Given the description of an element on the screen output the (x, y) to click on. 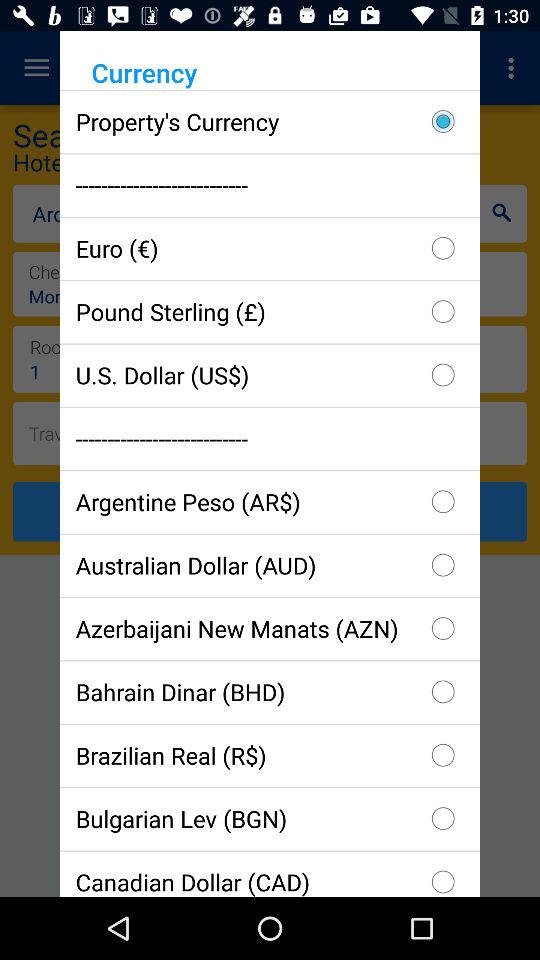
turn off canadian dollar (cad) (270, 873)
